Given the description of an element on the screen output the (x, y) to click on. 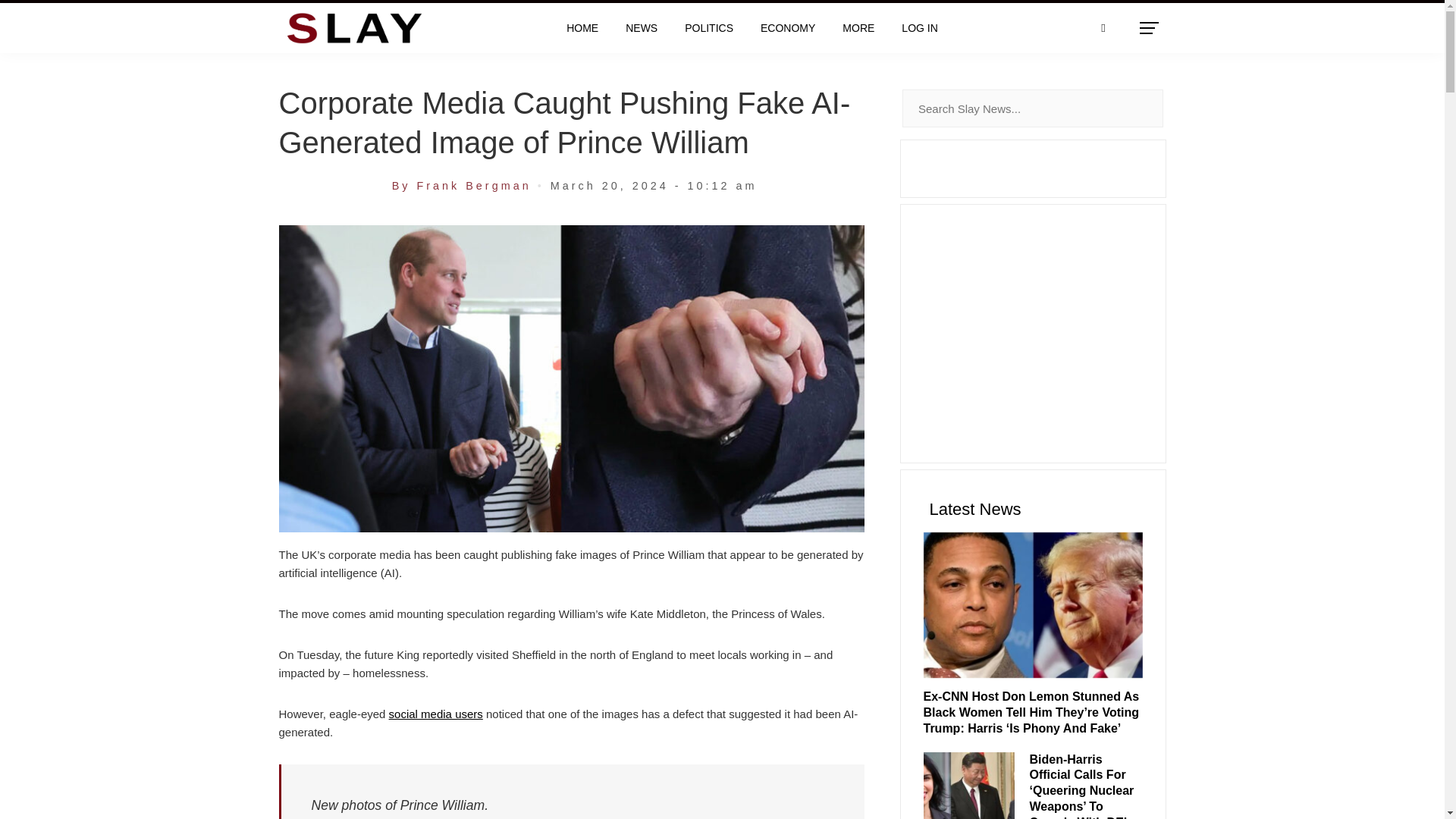
HOME (582, 28)
MORE (858, 28)
POLITICS (708, 28)
NEWS (641, 28)
social media users (435, 713)
LOG IN (919, 28)
ECONOMY (788, 28)
